Given the description of an element on the screen output the (x, y) to click on. 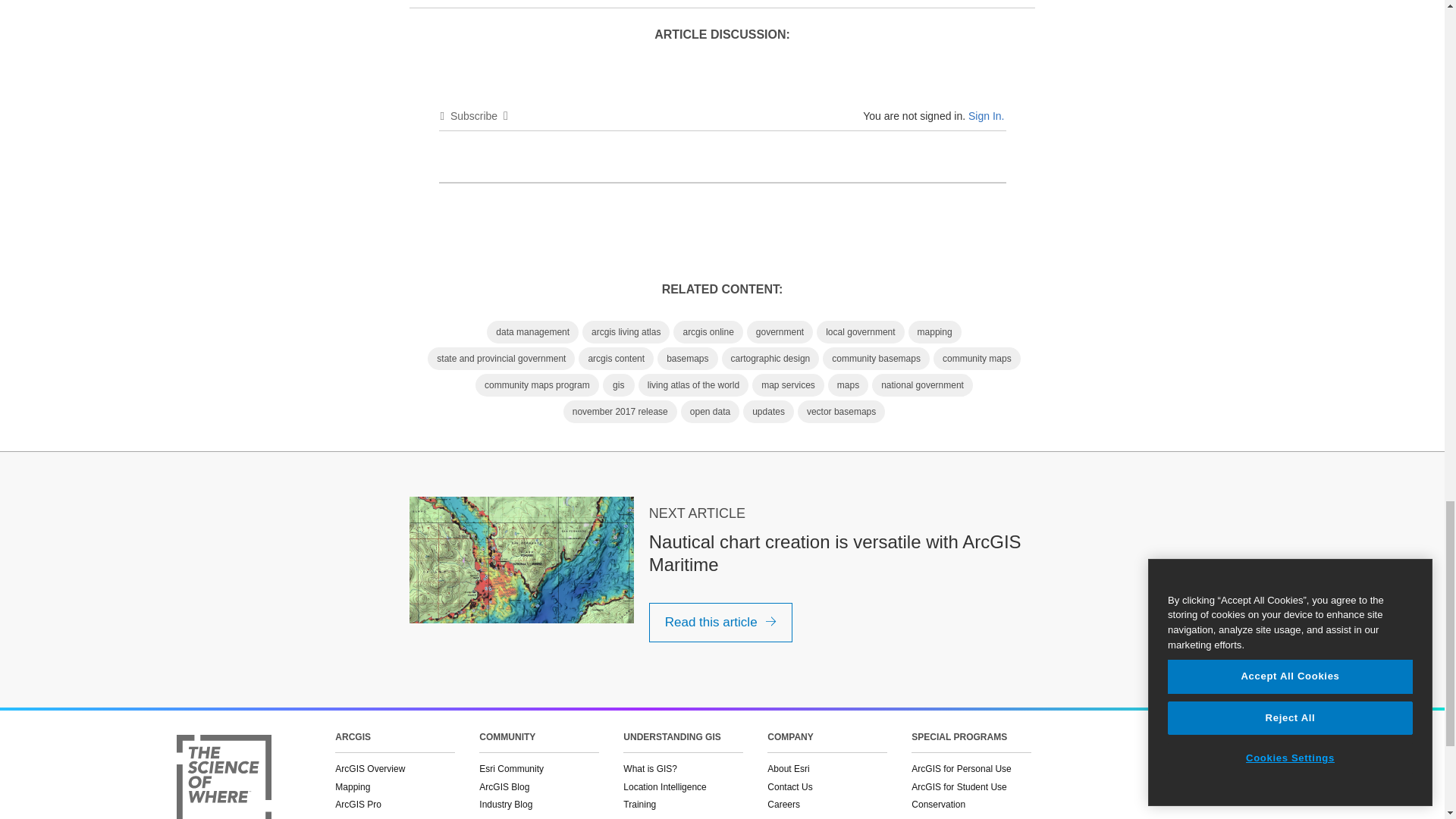
More about Esri and the Science of Where (223, 776)
